Given the description of an element on the screen output the (x, y) to click on. 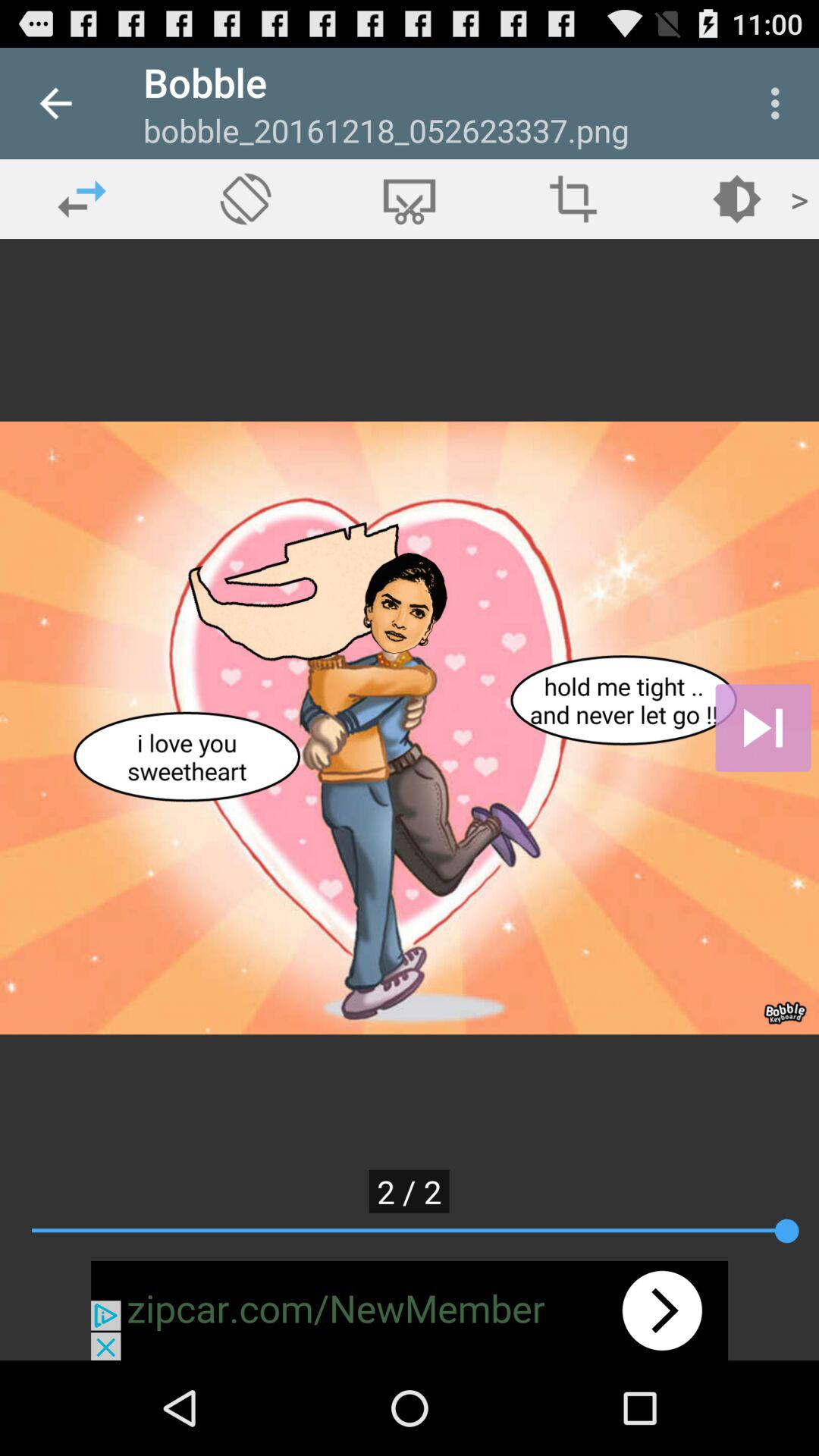
crop photo (573, 198)
